Given the description of an element on the screen output the (x, y) to click on. 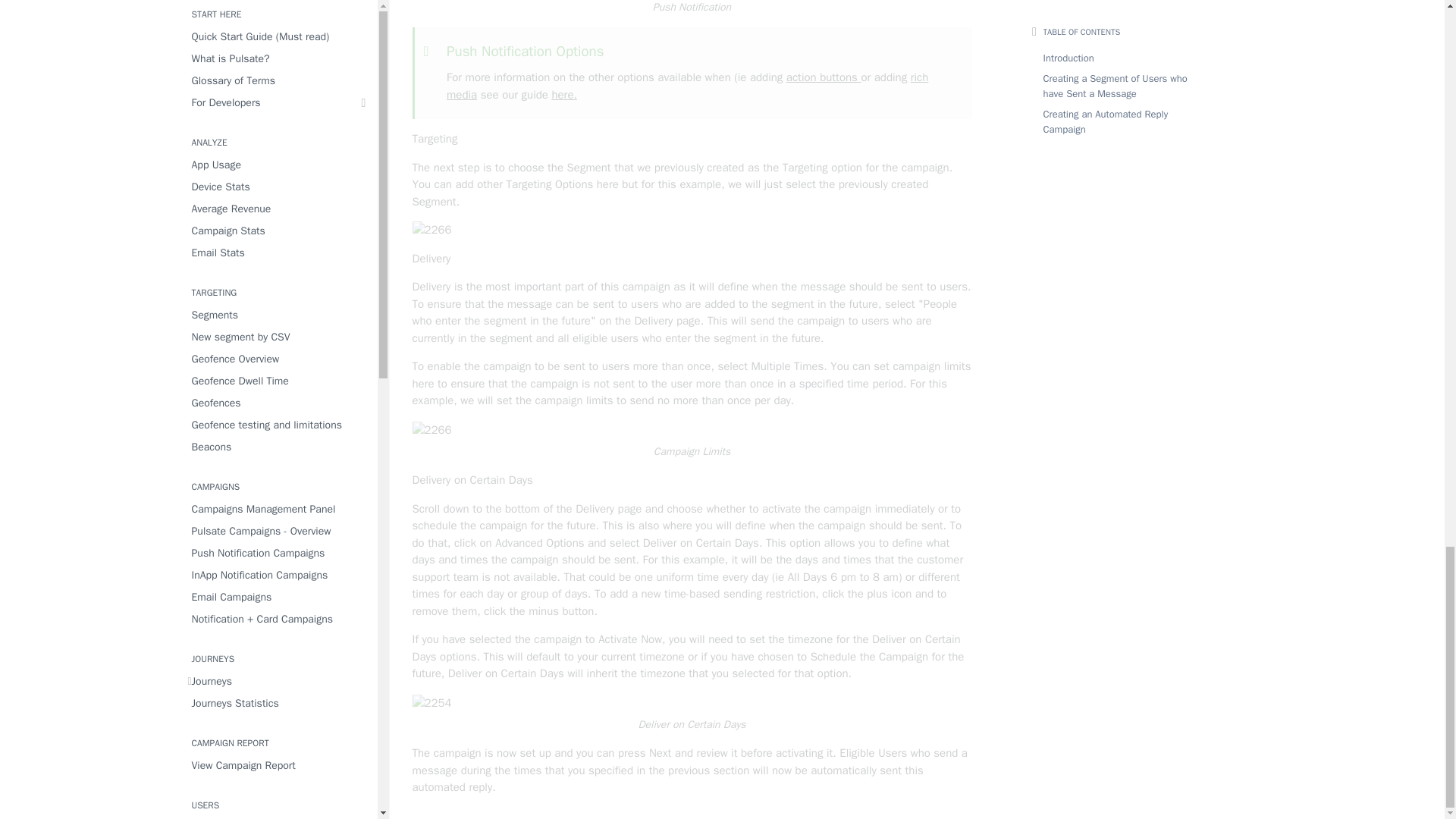
Delivery at certain times.png (431, 702)
Target.png (692, 230)
Delivery.png (431, 429)
